Given the description of an element on the screen output the (x, y) to click on. 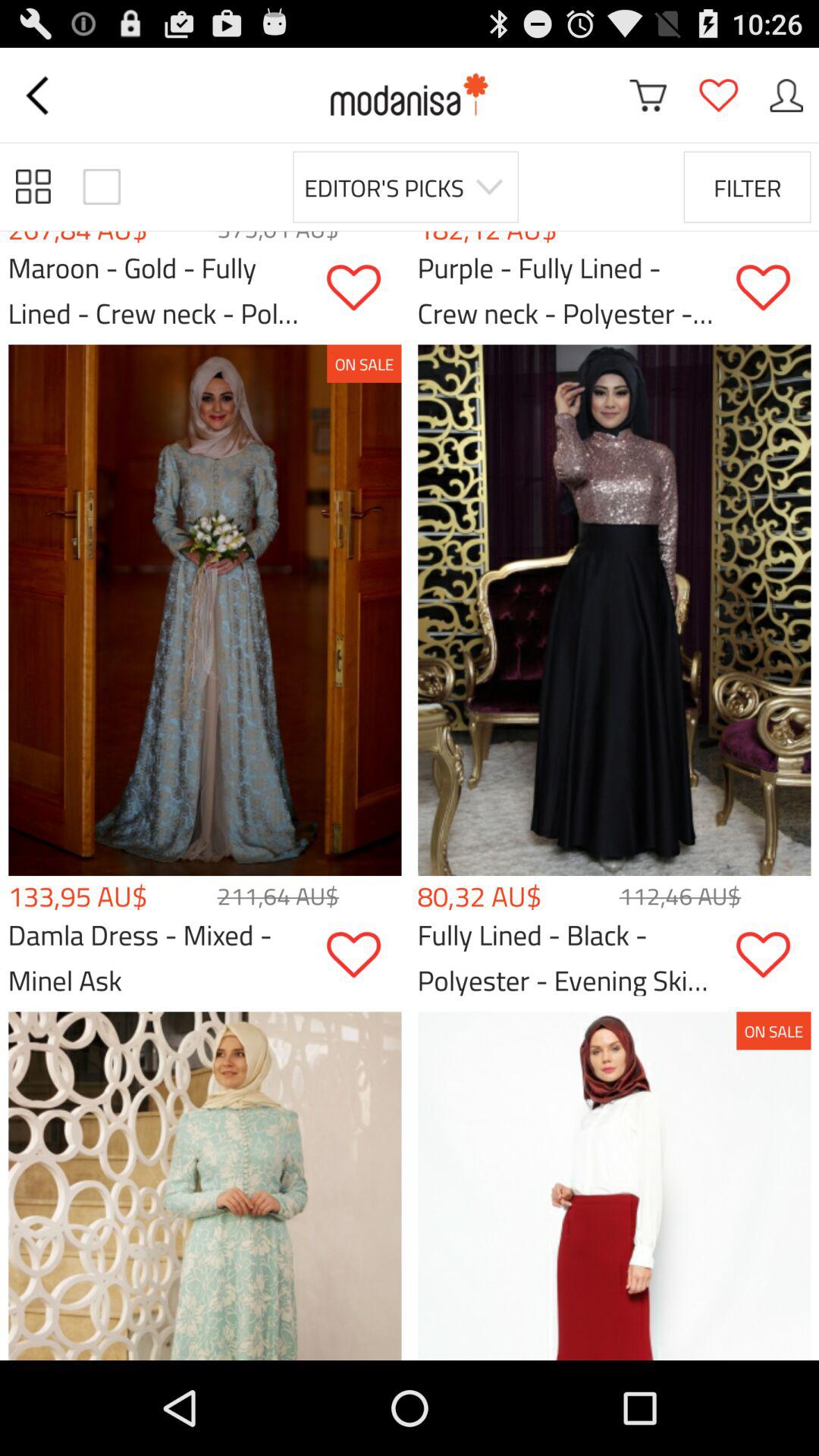
modanisa (409, 95)
